Given the description of an element on the screen output the (x, y) to click on. 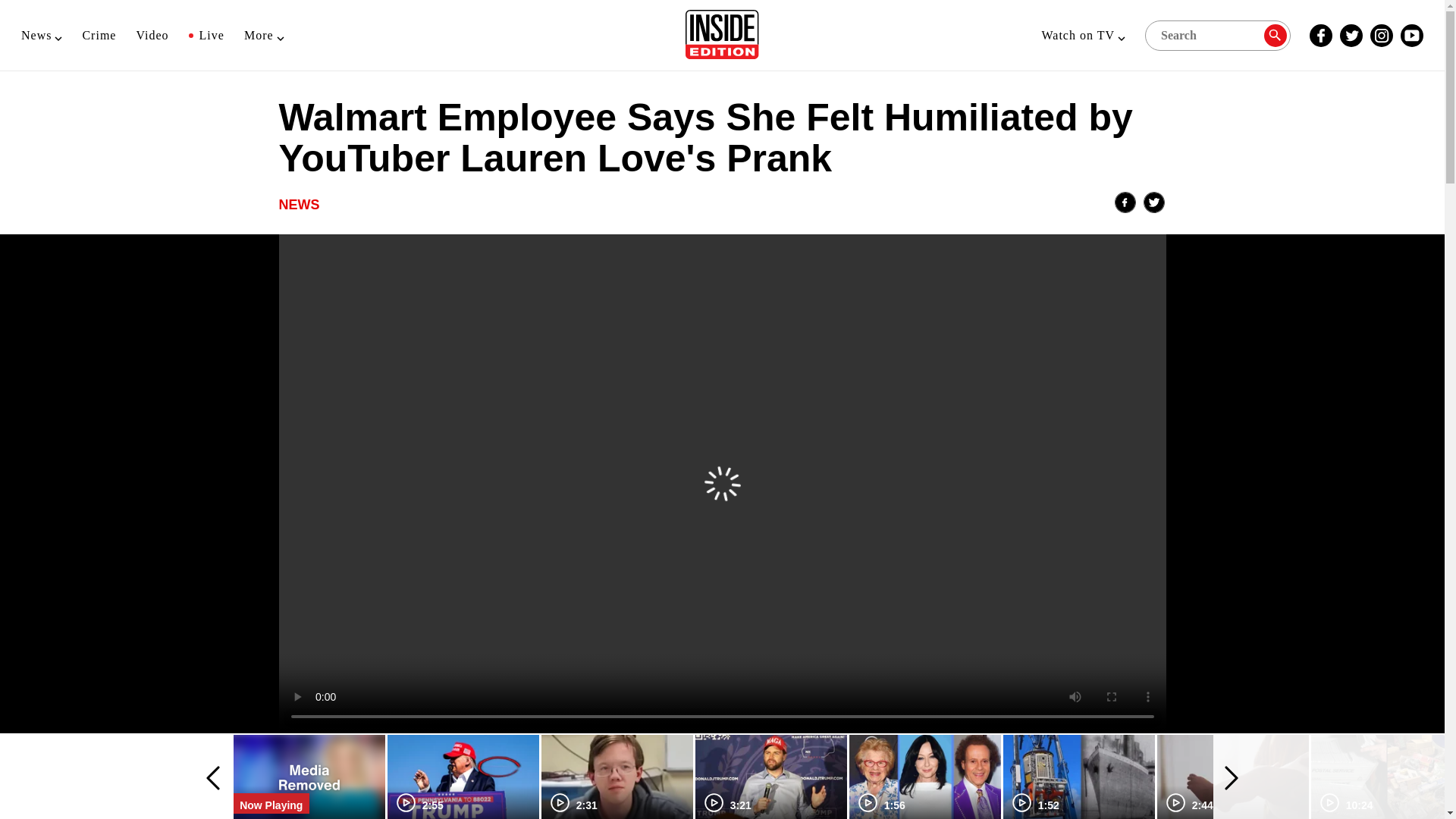
Enter the terms you wish to search for. (1217, 34)
More (263, 35)
Video (151, 35)
News (41, 35)
Live (206, 35)
Watch on TV (1083, 35)
Crime (98, 35)
